Given the description of an element on the screen output the (x, y) to click on. 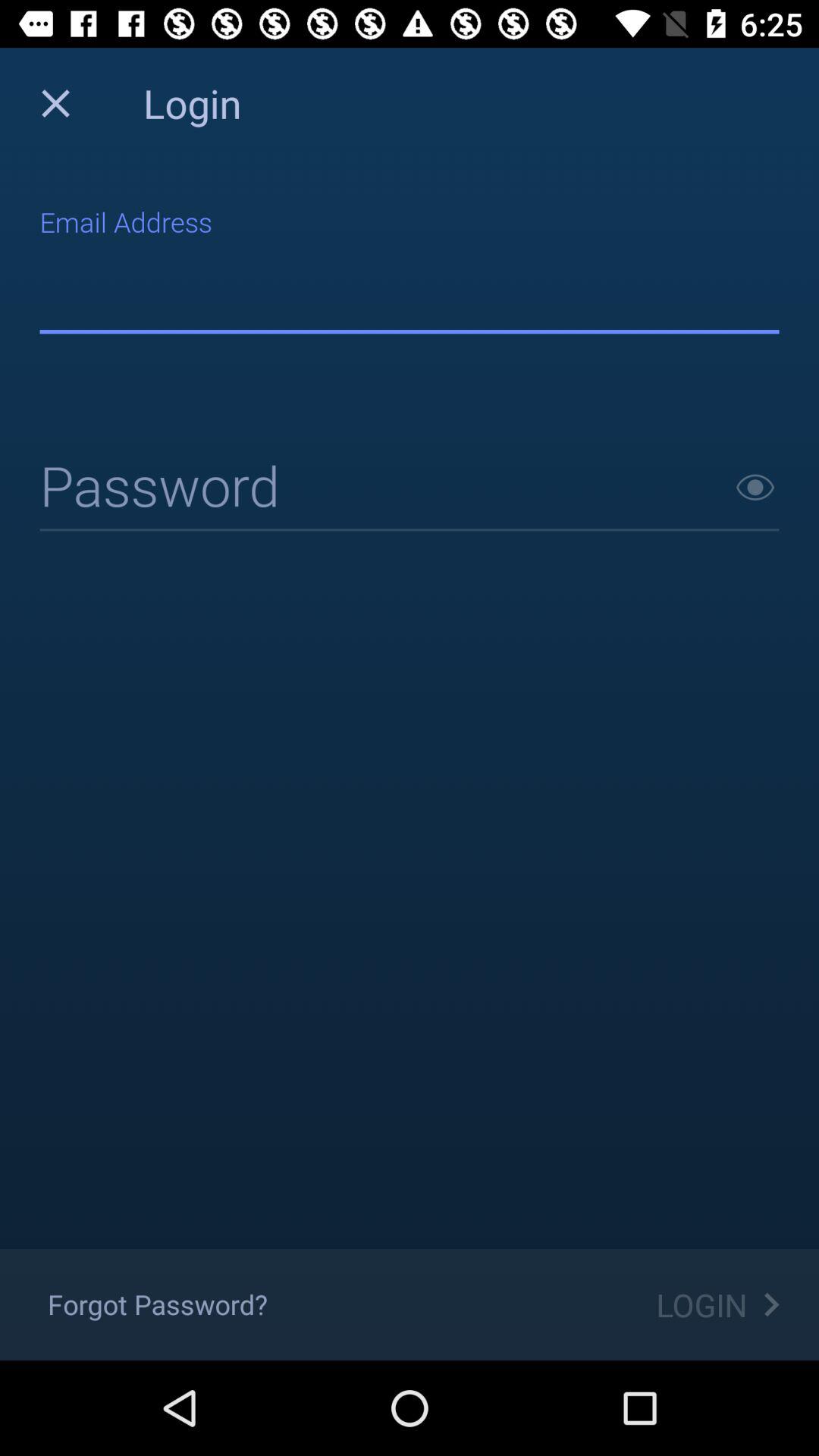
type password (409, 488)
